Given the description of an element on the screen output the (x, y) to click on. 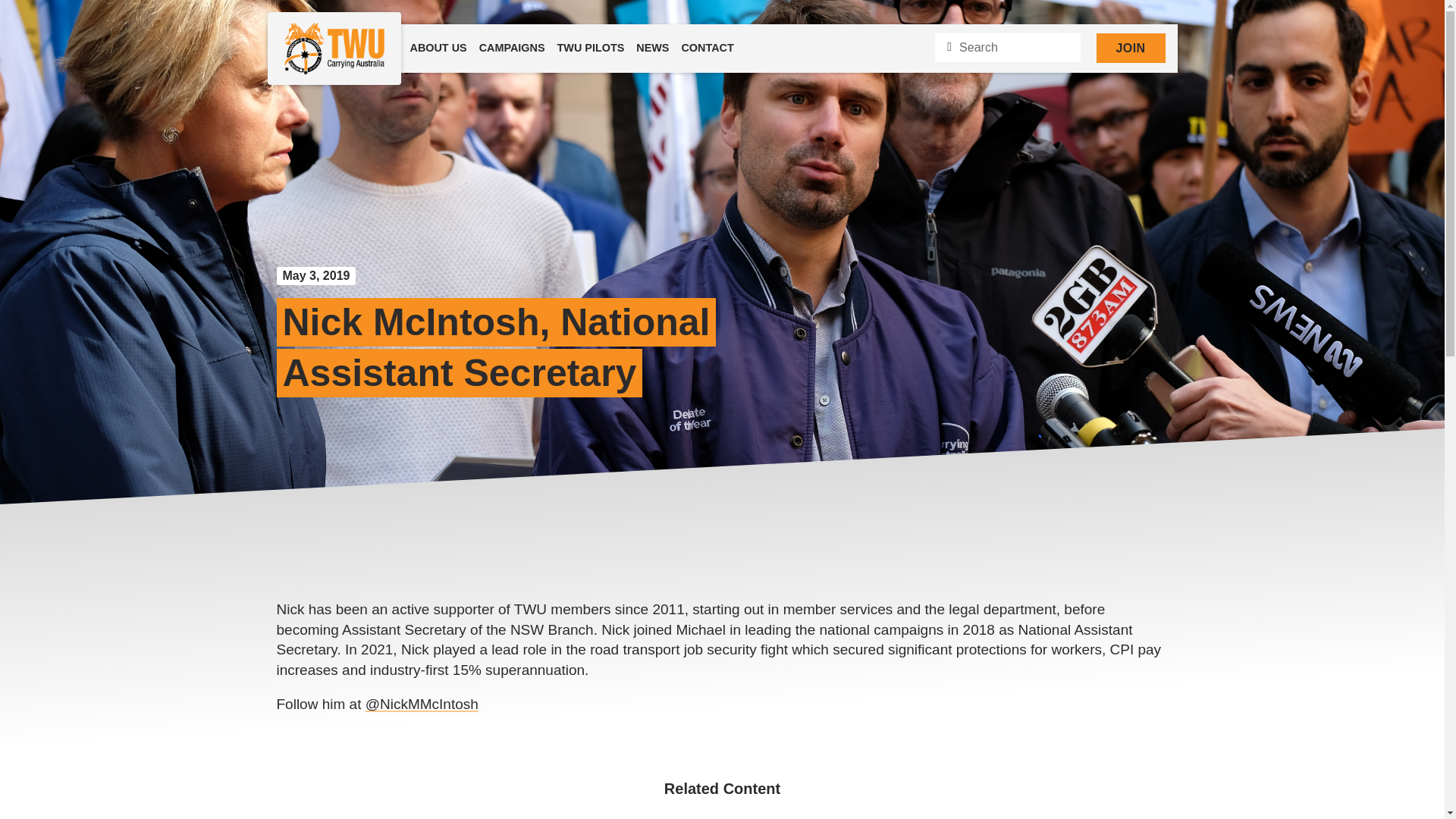
CAMPAIGNS (512, 48)
JOIN (1131, 48)
TWU PILOTS (590, 48)
NEWS (652, 48)
ABOUT US (437, 48)
CONTACT (707, 48)
